Given the description of an element on the screen output the (x, y) to click on. 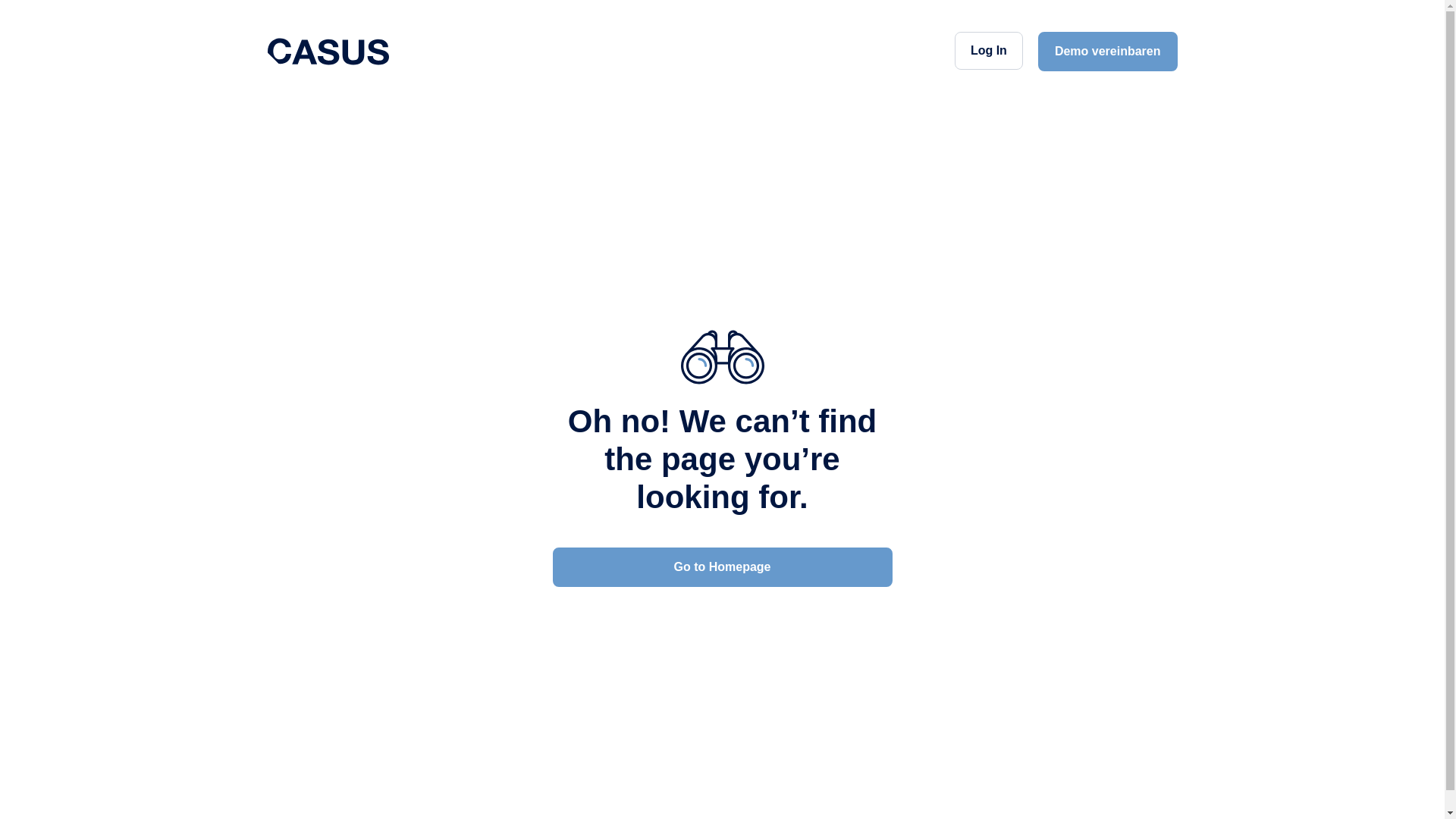
Go to Homepage Element type: text (721, 566)
Log In Element type: text (988, 50)
Demo vereinbaren Element type: text (1107, 51)
